Given the description of an element on the screen output the (x, y) to click on. 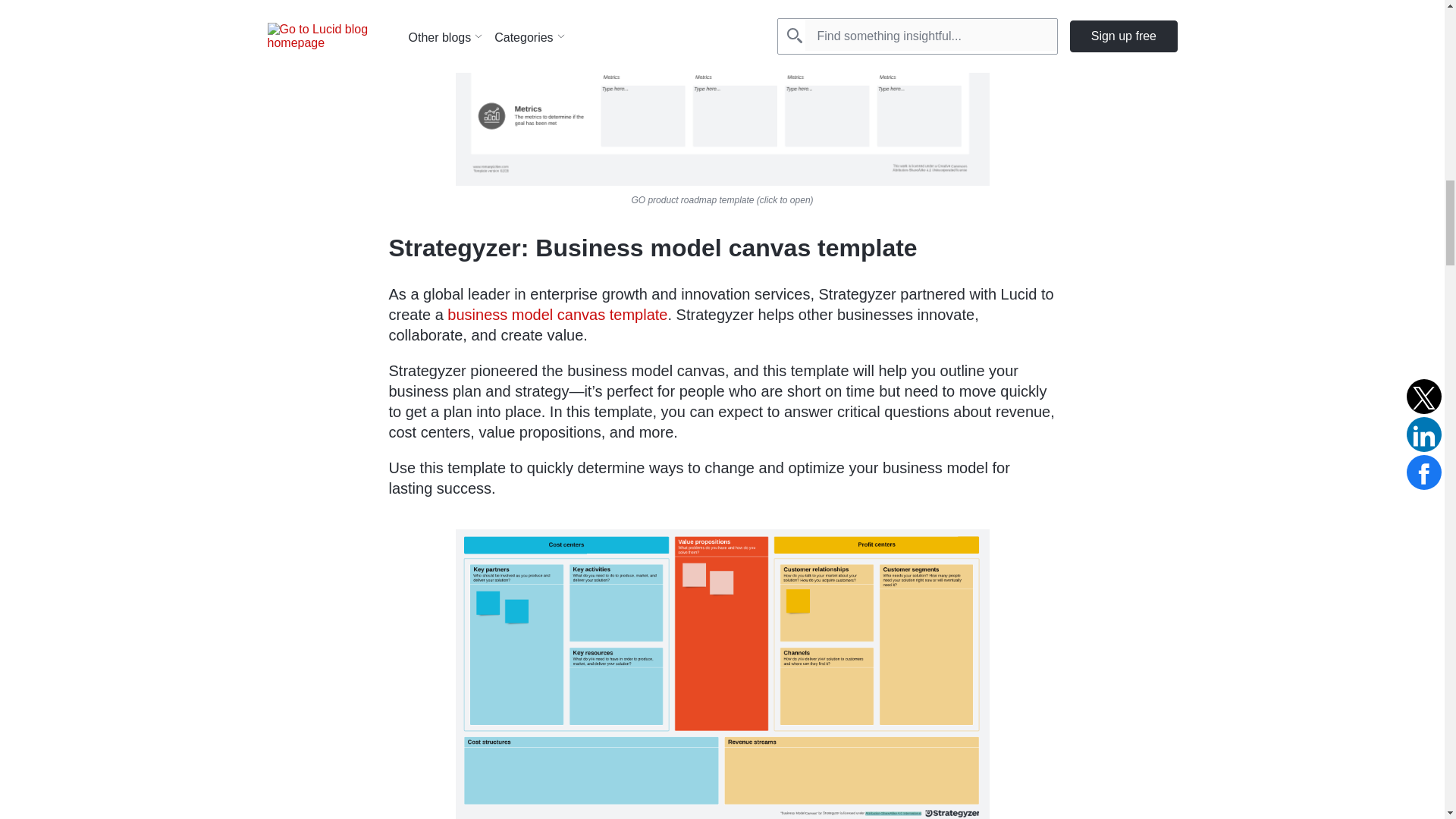
Image link (721, 94)
business model canvas template (556, 314)
